Given the description of an element on the screen output the (x, y) to click on. 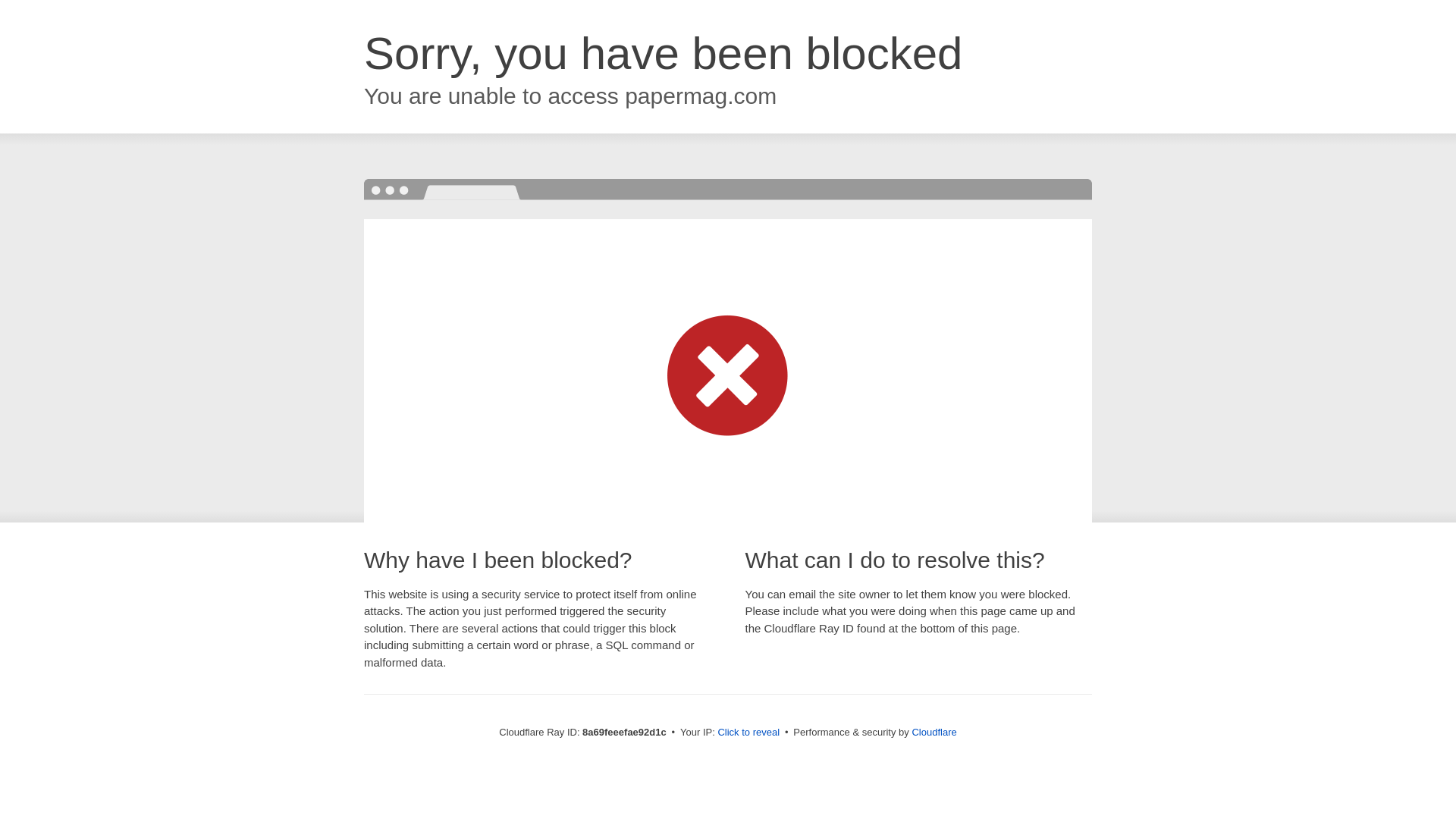
Click to reveal (747, 732)
Cloudflare (933, 731)
